Given the description of an element on the screen output the (x, y) to click on. 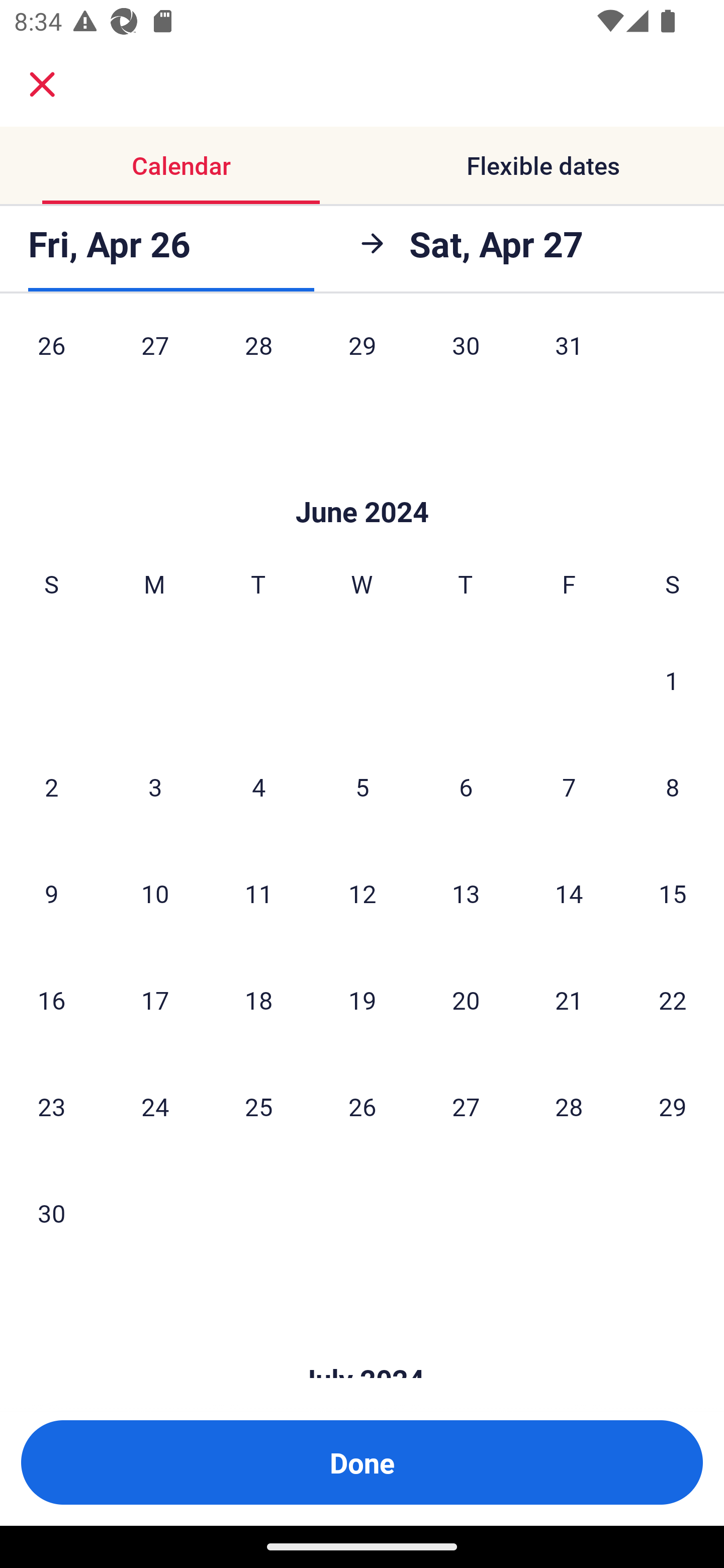
close. (42, 84)
Flexible dates (542, 164)
26 Sunday, May 26, 2024 (51, 358)
27 Monday, May 27, 2024 (155, 358)
28 Tuesday, May 28, 2024 (258, 358)
29 Wednesday, May 29, 2024 (362, 358)
30 Thursday, May 30, 2024 (465, 358)
31 Friday, May 31, 2024 (569, 358)
Skip to Done (362, 481)
1 Saturday, June 1, 2024 (672, 680)
2 Sunday, June 2, 2024 (51, 786)
3 Monday, June 3, 2024 (155, 786)
4 Tuesday, June 4, 2024 (258, 786)
5 Wednesday, June 5, 2024 (362, 786)
6 Thursday, June 6, 2024 (465, 786)
7 Friday, June 7, 2024 (569, 786)
8 Saturday, June 8, 2024 (672, 786)
9 Sunday, June 9, 2024 (51, 893)
10 Monday, June 10, 2024 (155, 893)
11 Tuesday, June 11, 2024 (258, 893)
